Given the description of an element on the screen output the (x, y) to click on. 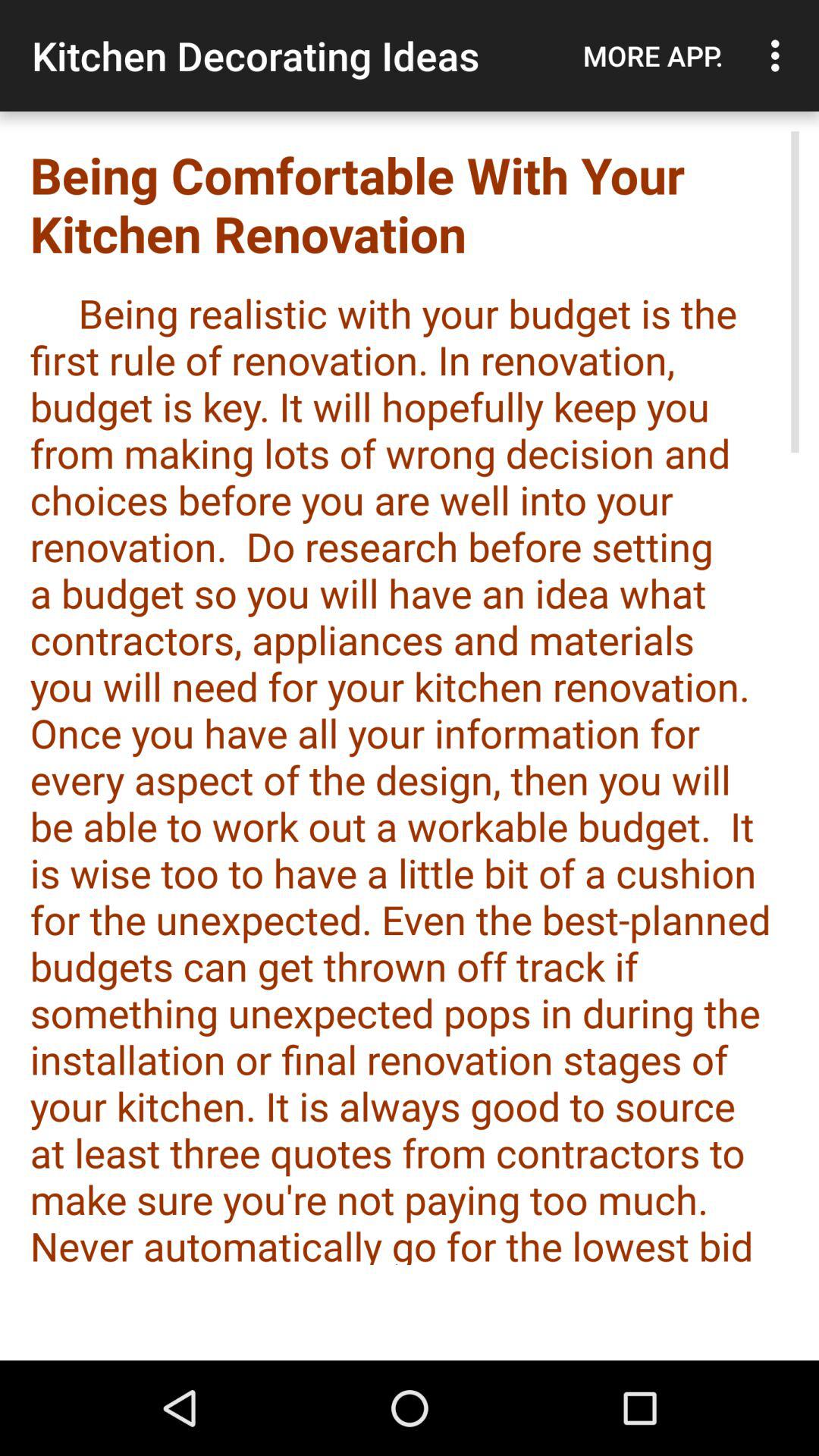
flip to the more app. item (653, 55)
